Given the description of an element on the screen output the (x, y) to click on. 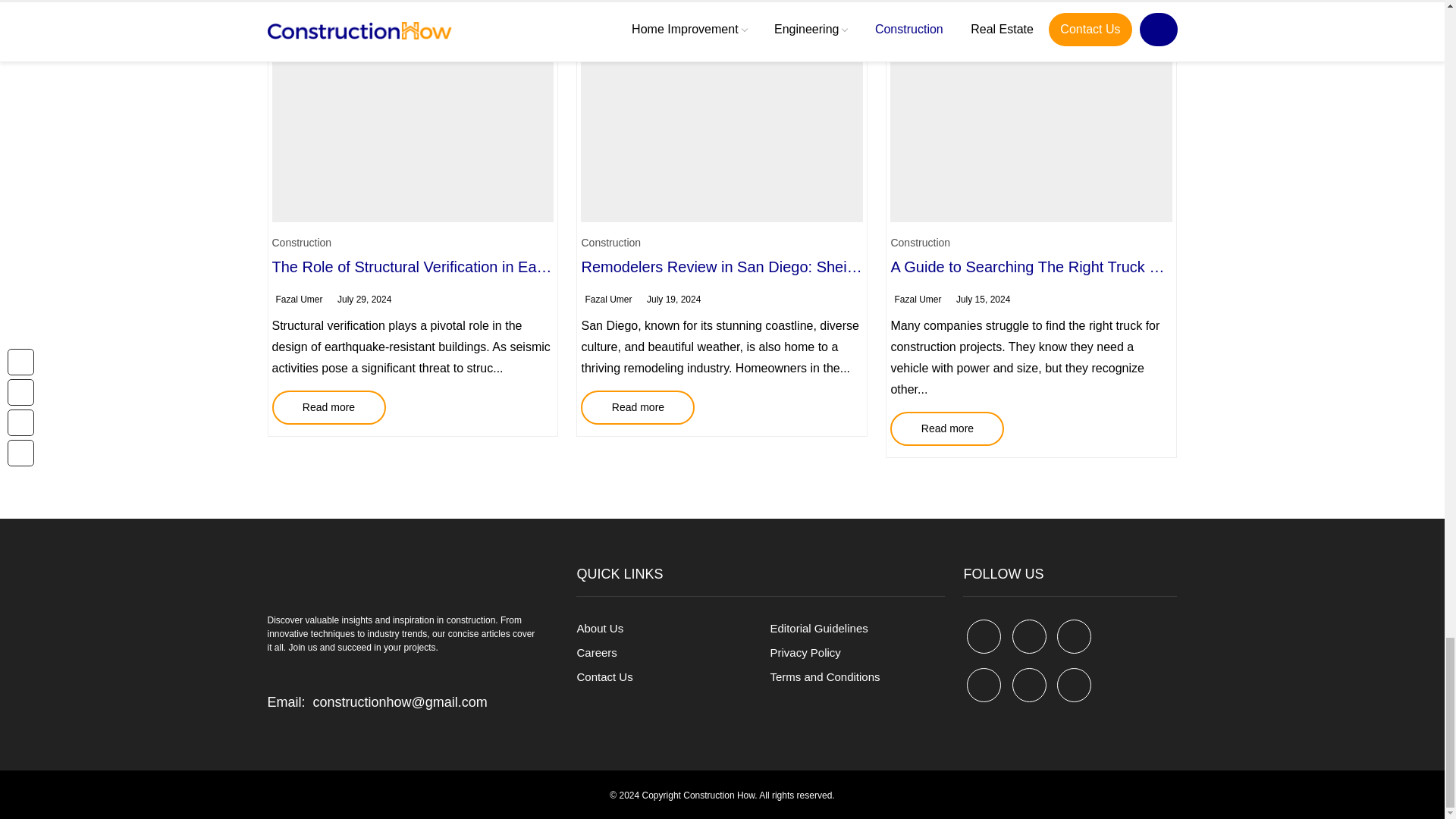
pinterest (1073, 636)
tiktok (1028, 684)
youtube (983, 684)
facebook (983, 636)
instagram (1073, 684)
twitter (1028, 636)
